Given the description of an element on the screen output the (x, y) to click on. 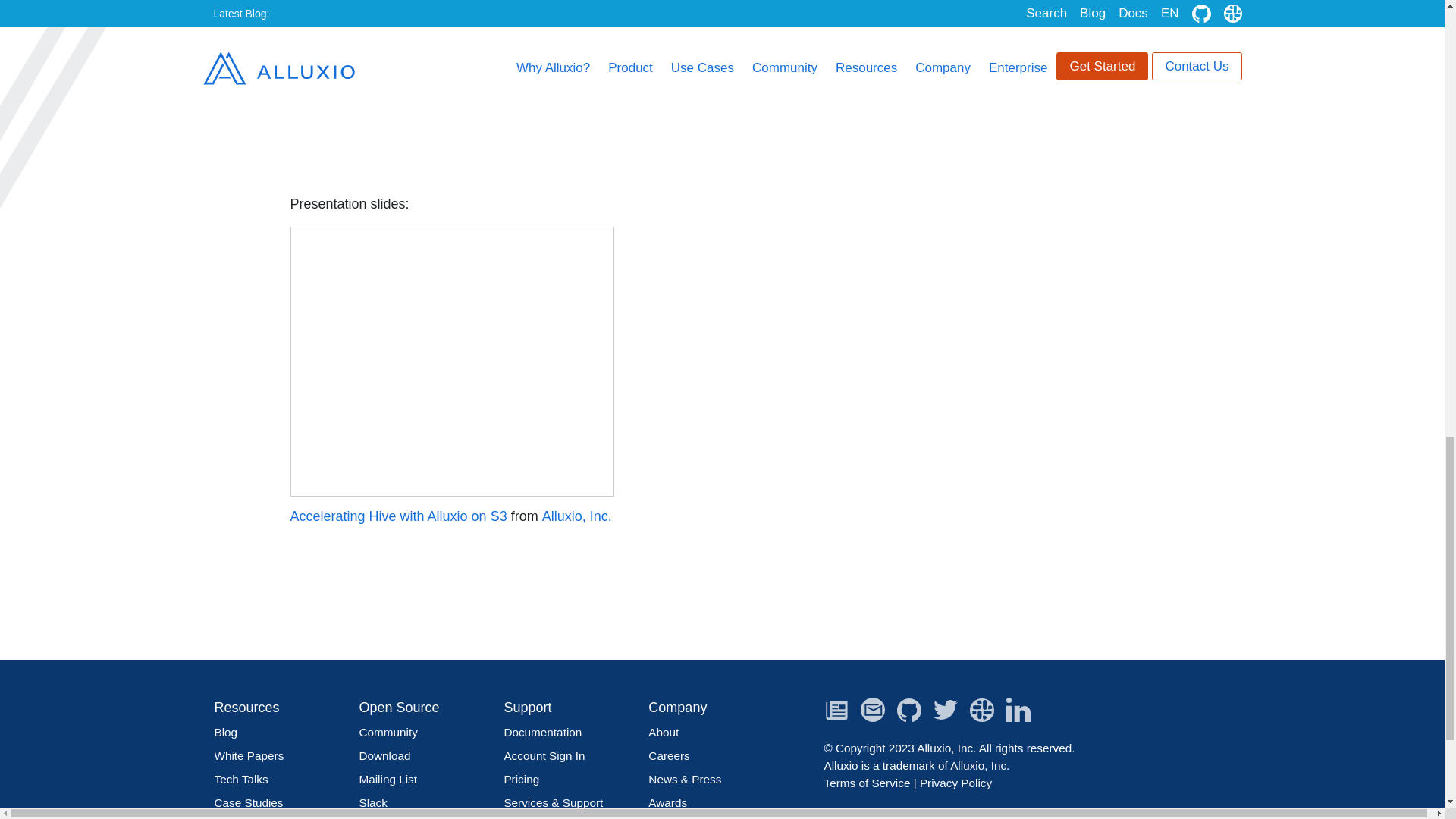
Accelerating Hive with Alluxio on S3 (397, 516)
linkedin (1024, 712)
Accelerating Hive with Alluxio on S3 (450, 361)
email (878, 712)
github (914, 712)
twitter (951, 712)
slack (987, 712)
